Given the description of an element on the screen output the (x, y) to click on. 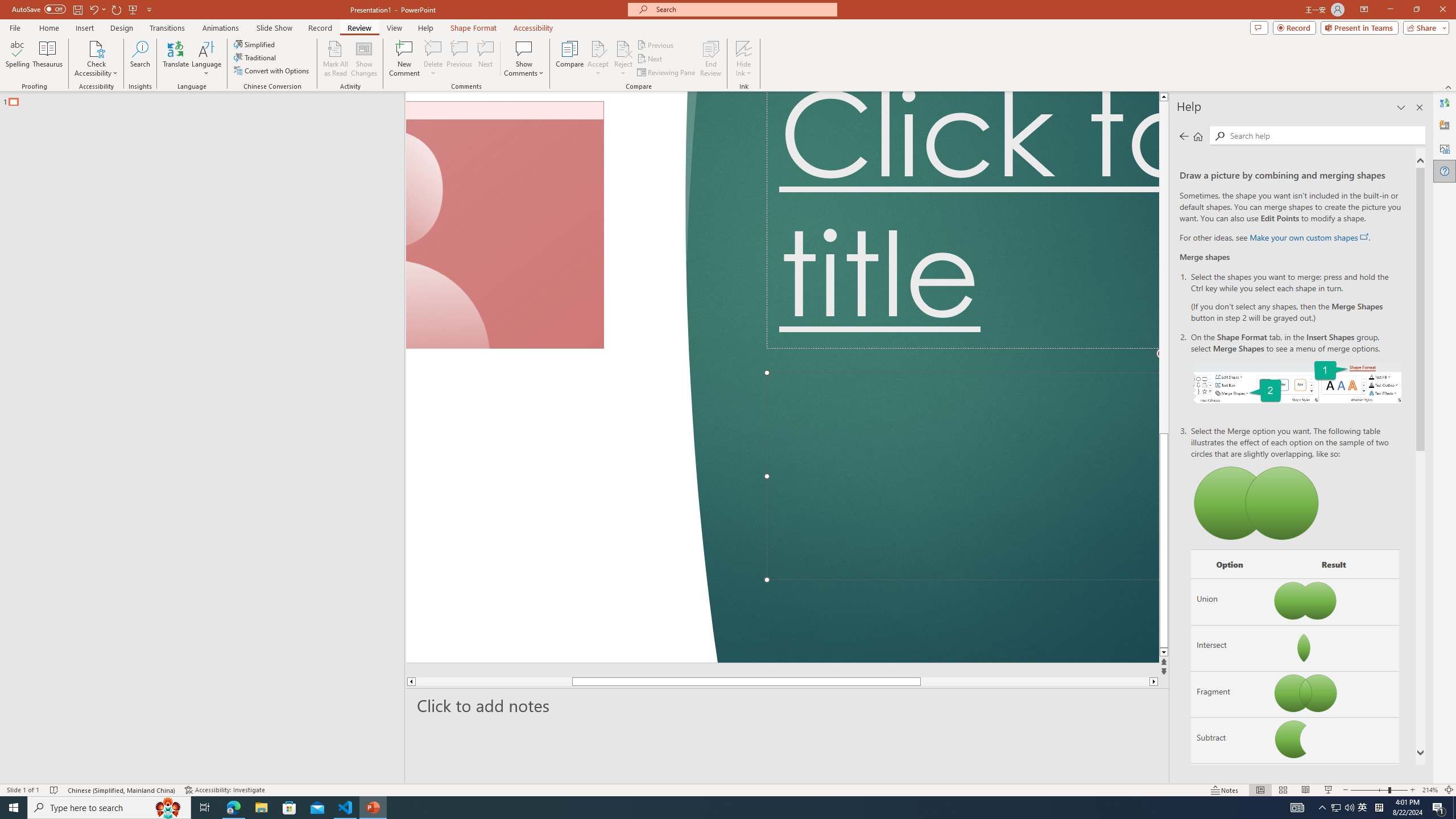
Compare (569, 58)
Reject Change (622, 48)
Convert with Options... (272, 69)
On the Shape Format tab, select Merge Shapes. (1296, 381)
